Given the description of an element on the screen output the (x, y) to click on. 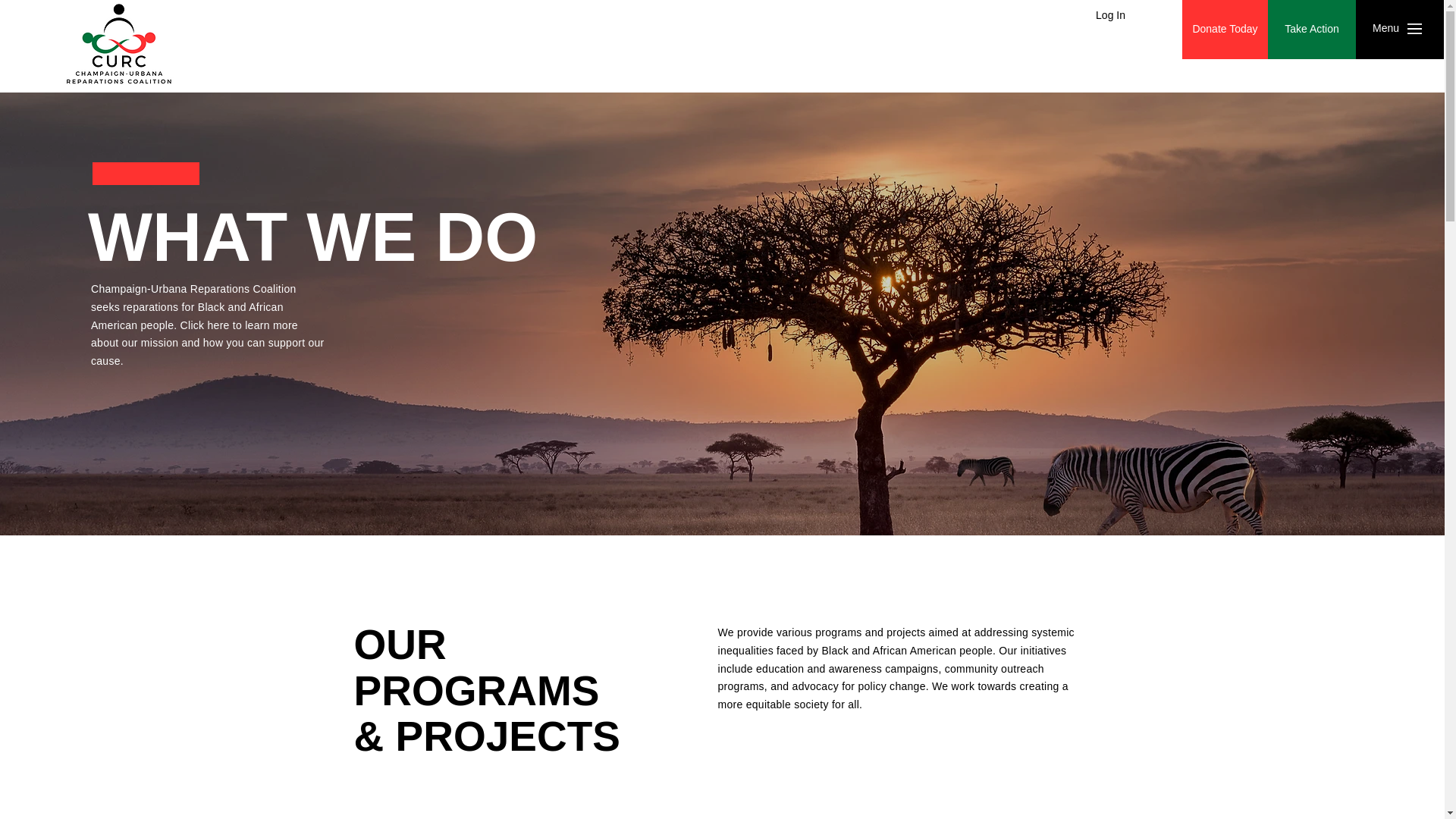
Take Action (1311, 29)
Log In (1109, 15)
Donate Today (1225, 29)
